Given the description of an element on the screen output the (x, y) to click on. 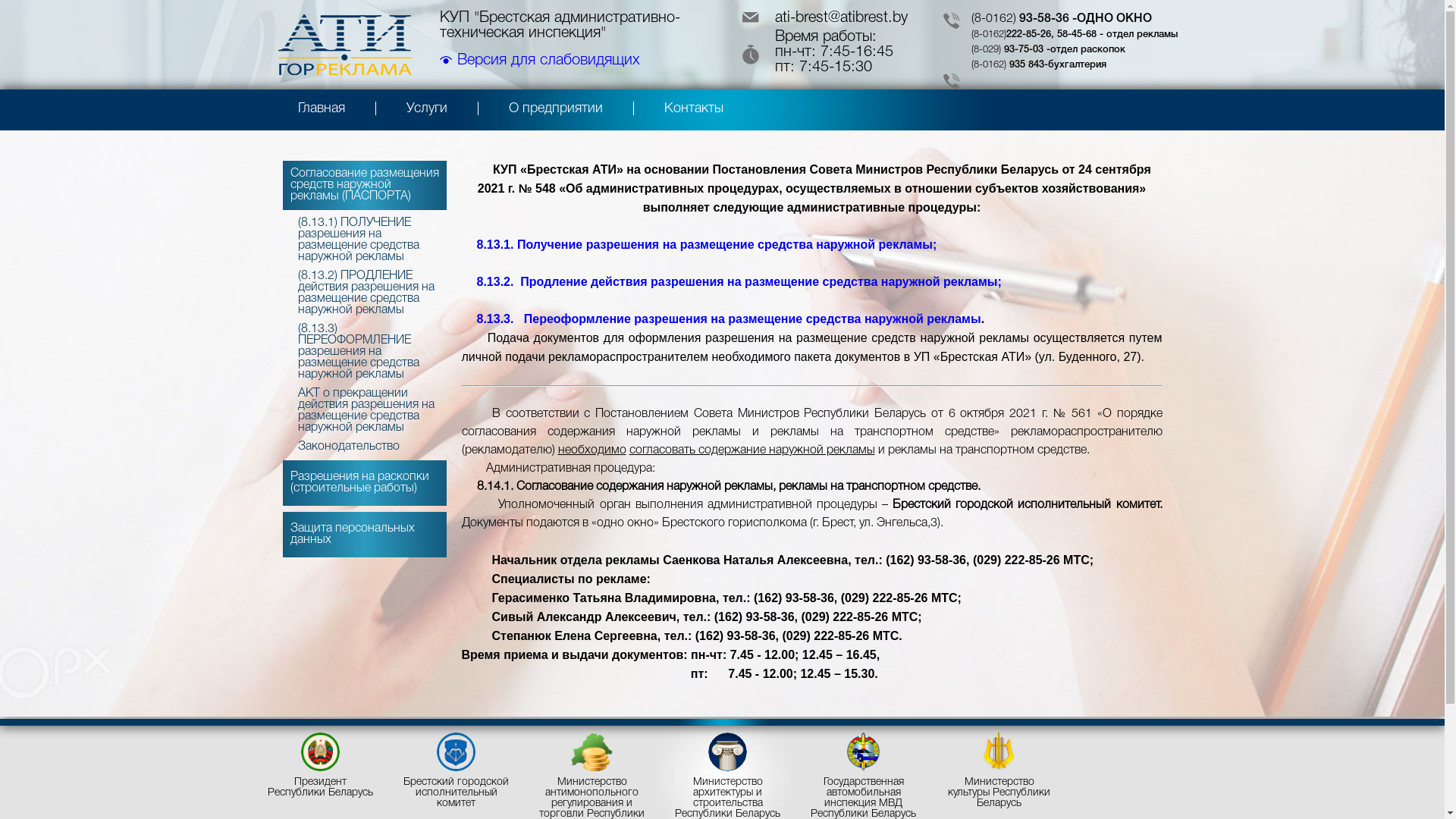
ati-brest@atibrest.by Element type: text (823, 17)
